Given the description of an element on the screen output the (x, y) to click on. 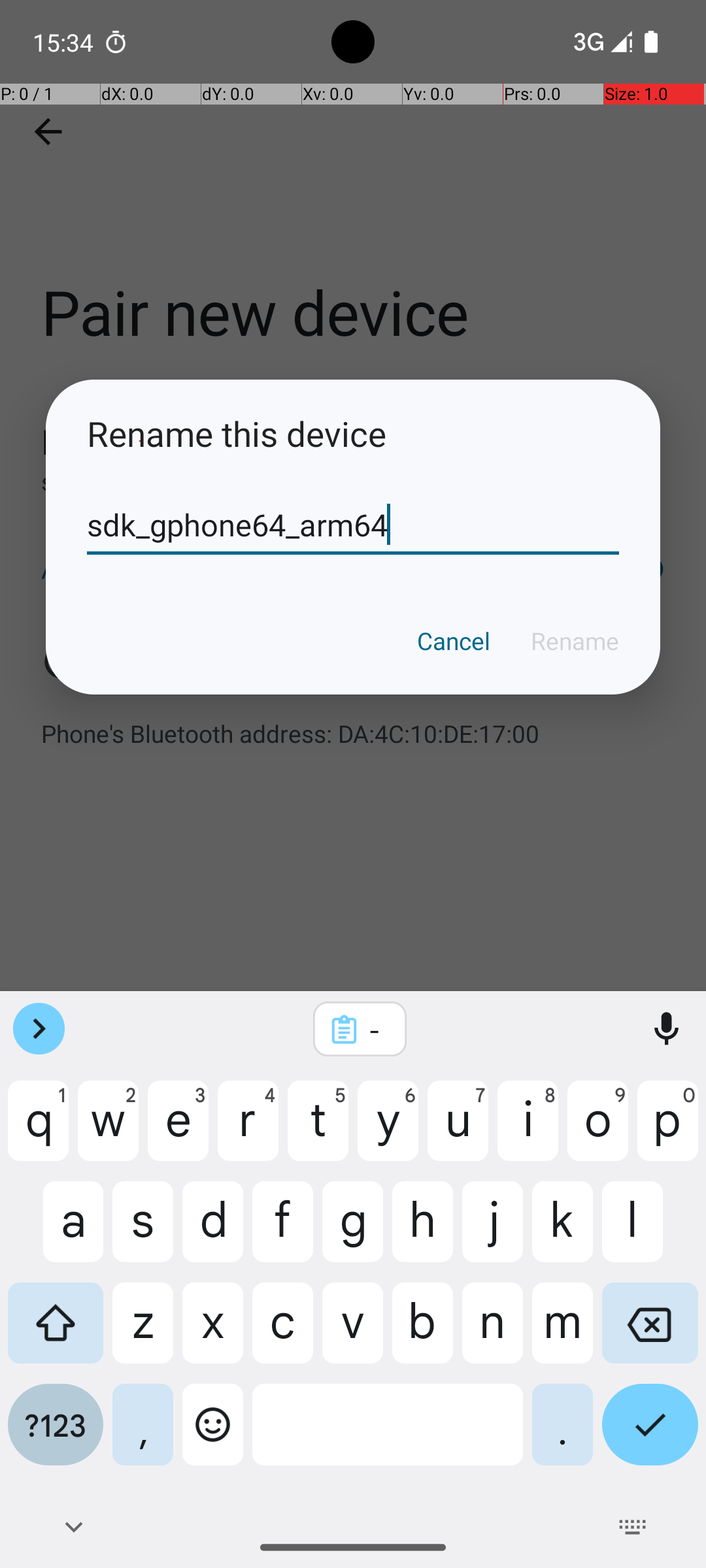
Rename this device Element type: android.widget.TextView (352, 433)
